Given the description of an element on the screen output the (x, y) to click on. 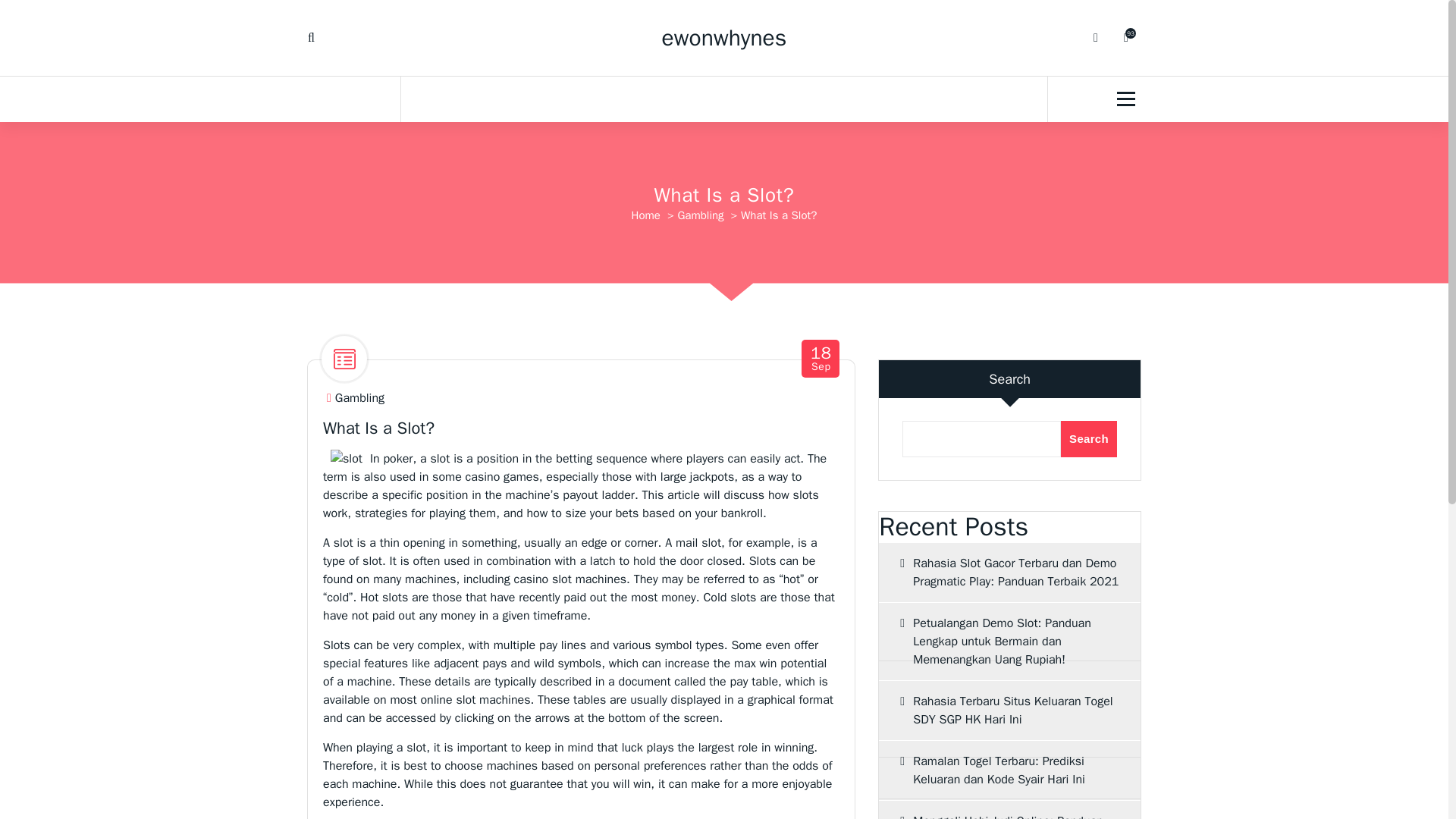
Home (820, 358)
Rahasia Terbaru Situs Keluaran Togel SDY SGP HK Hari Ini (646, 214)
Search (1009, 710)
Gambling (1088, 438)
938 (700, 214)
ewonwhynes (1125, 37)
Gambling (724, 37)
